Given the description of an element on the screen output the (x, y) to click on. 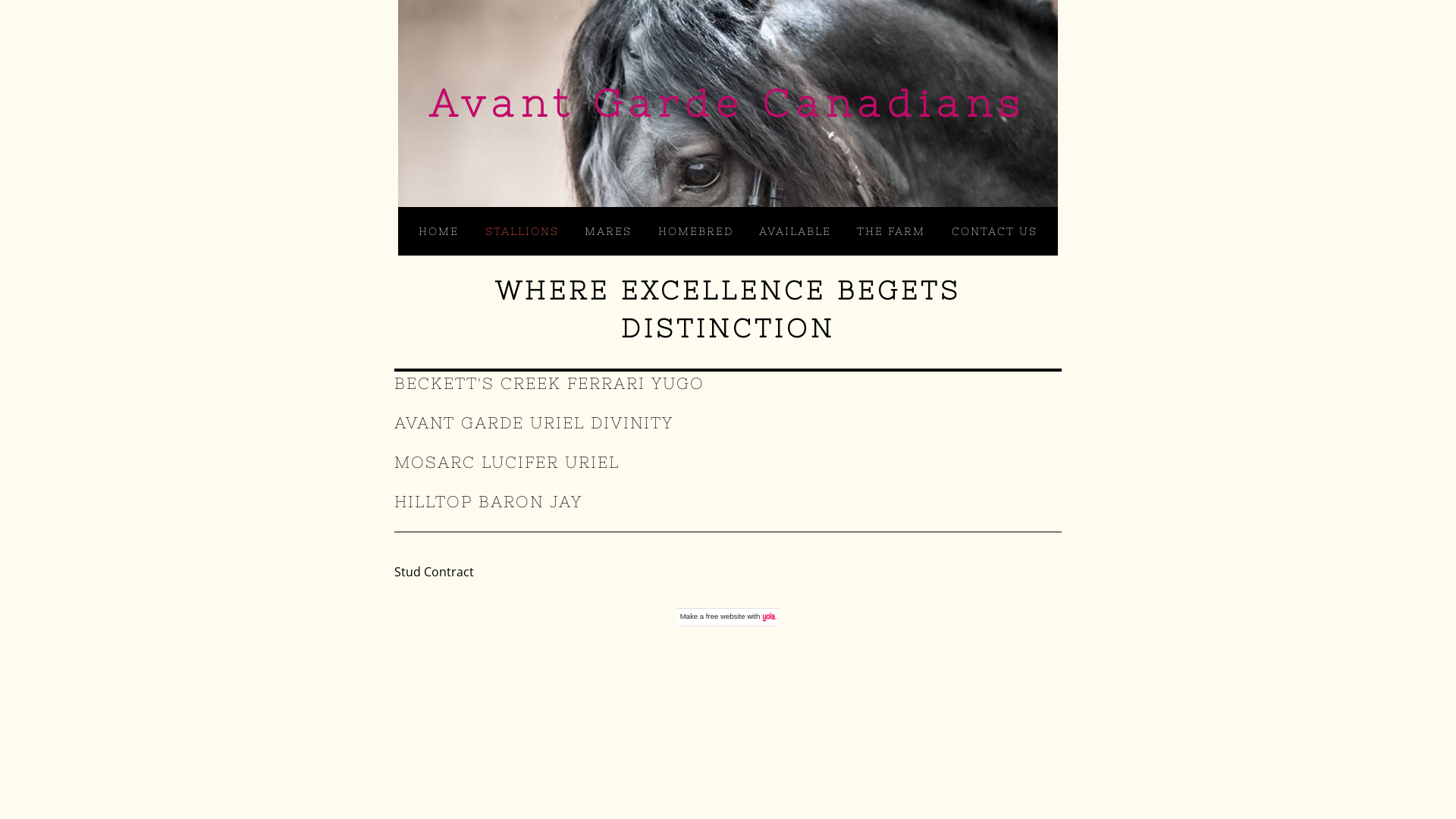
Avant Garde Canadians Element type: text (727, 102)
MOSARC LUCIFER URIEL Element type: text (506, 461)
HOMEBRED Element type: text (695, 231)
AVAILABLE Element type: text (795, 231)
THE FARM Element type: text (890, 231)
MARES Element type: text (607, 231)
free website Element type: text (725, 615)
CONTACT US Element type: text (994, 231)
AVANT GARDE URIEL DIVINITY Element type: text (533, 422)
STALLIONS Element type: text (521, 231)
HOME Element type: text (438, 231)
HILLTOP BARON JAY Element type: text (488, 501)
BECKETT'S CREEK FERRARI YUGO Element type: text (549, 383)
